Given the description of an element on the screen output the (x, y) to click on. 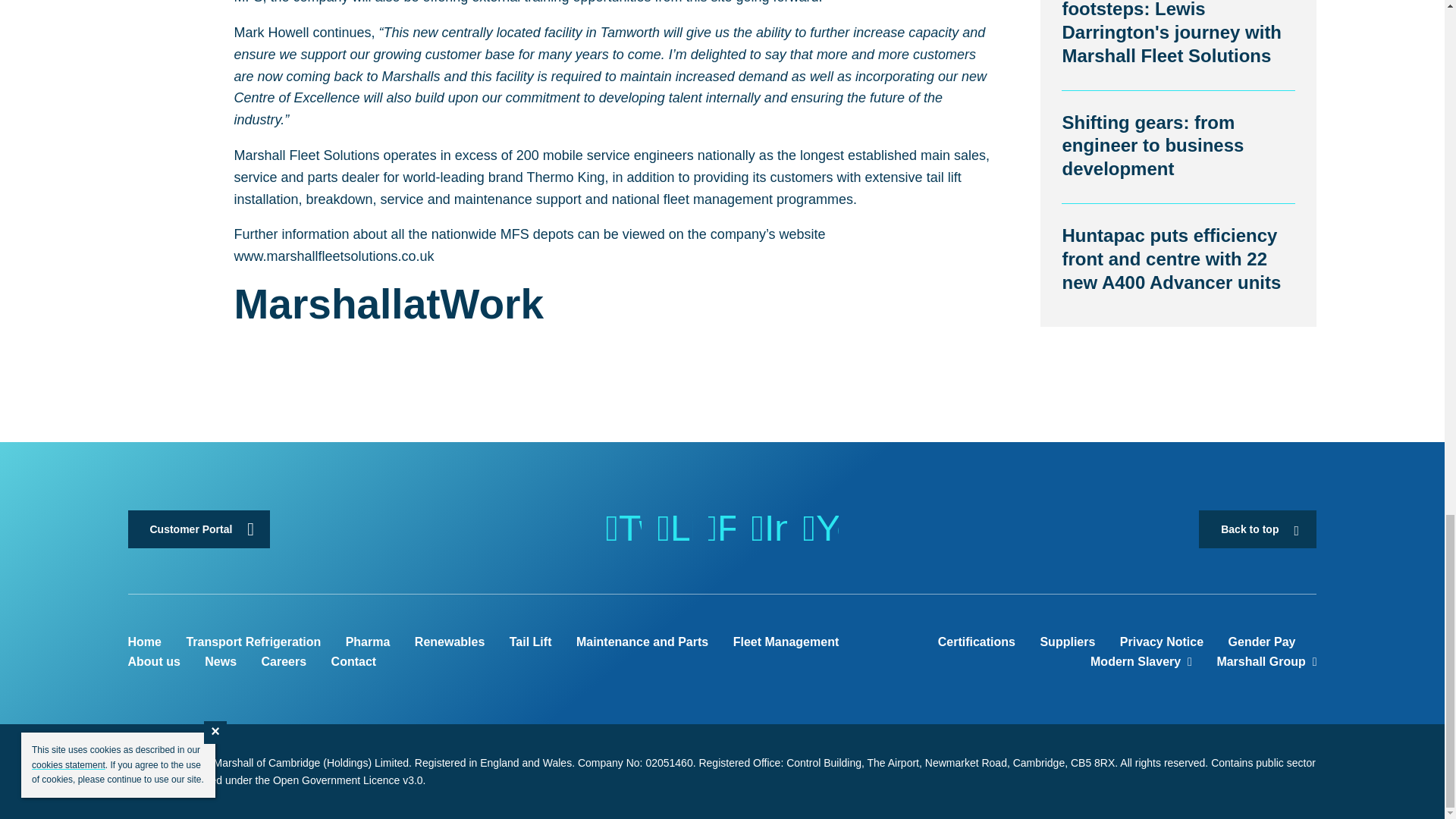
Back to top (1257, 528)
Instagram (769, 528)
LinkedIn (674, 528)
Twitter (623, 528)
Customer Portal (198, 528)
YouTube (820, 528)
